Given the description of an element on the screen output the (x, y) to click on. 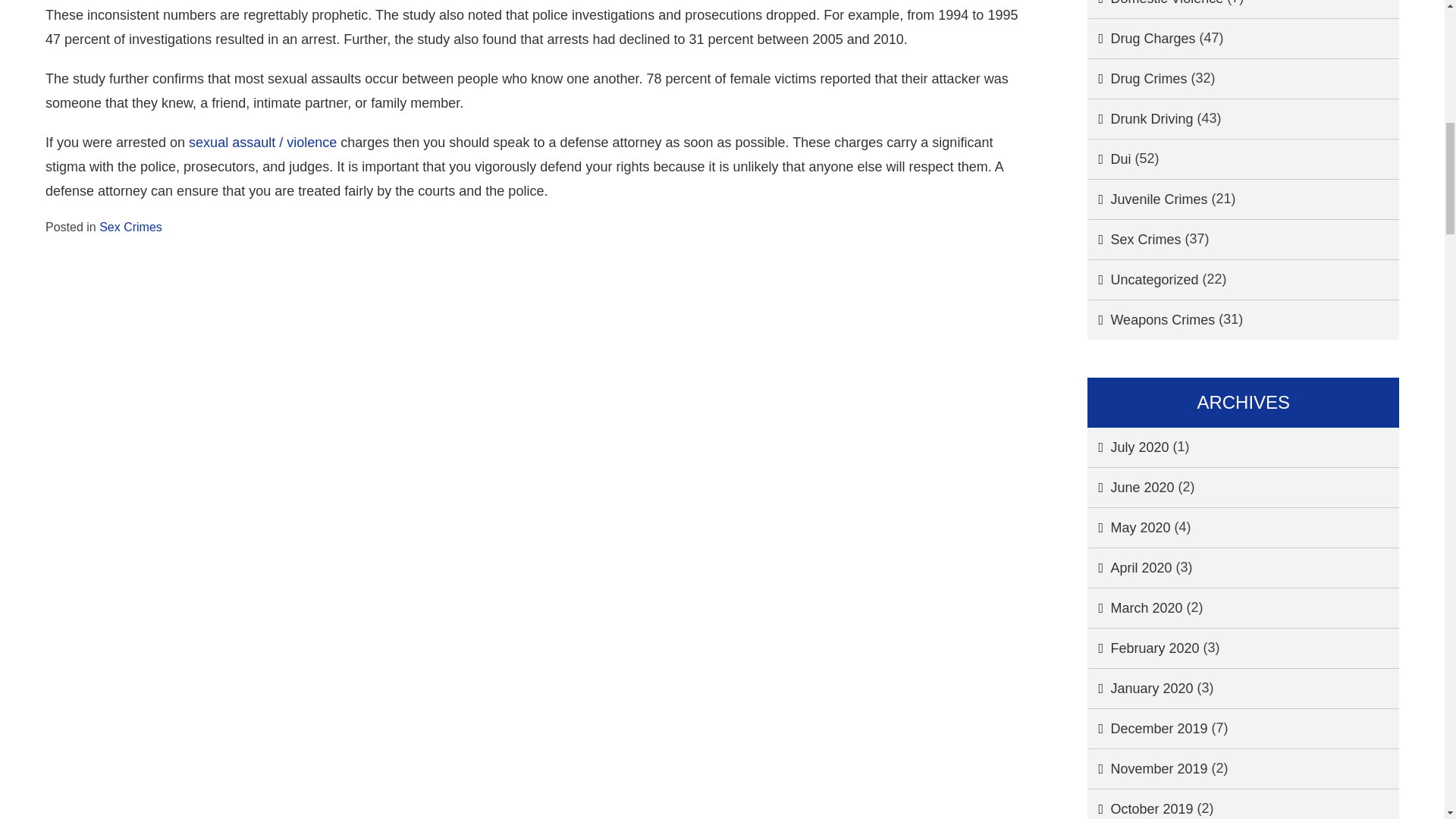
Uncategorized (1142, 279)
Drunk Driving (1139, 118)
Weapons Crimes (1150, 319)
May 2020 (1128, 527)
January 2020 (1139, 688)
April 2020 (1129, 567)
June 2020 (1130, 486)
March 2020 (1134, 608)
Sex Crimes (130, 226)
Juvenile Crimes (1147, 199)
